Given the description of an element on the screen output the (x, y) to click on. 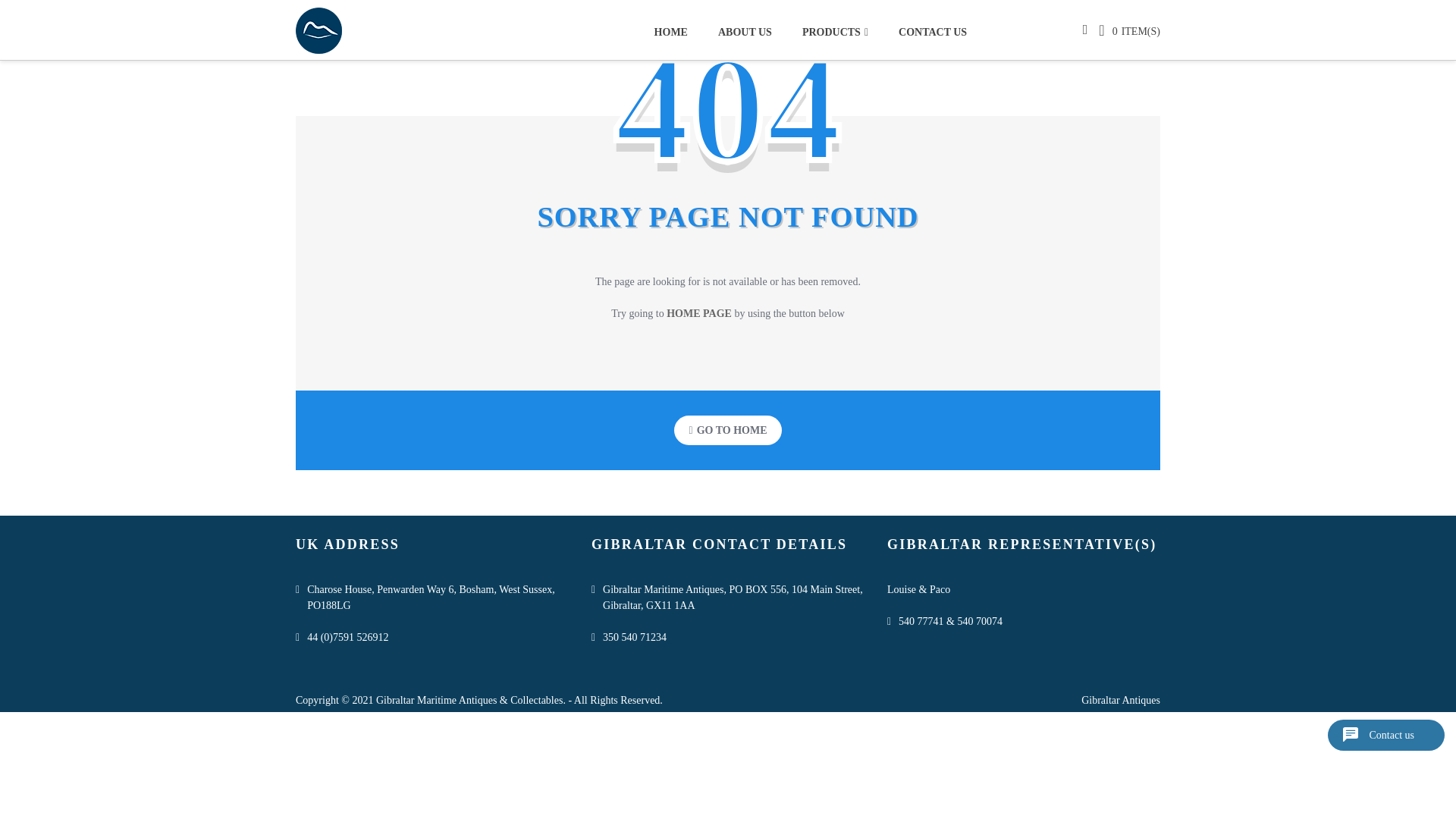
ABOUT US (745, 31)
HOME PAGE (699, 313)
CONTACT US (924, 31)
View cart (1107, 29)
PRODUCTS (835, 31)
GO TO HOME (728, 430)
HOME (678, 31)
0 (1107, 29)
